Given the description of an element on the screen output the (x, y) to click on. 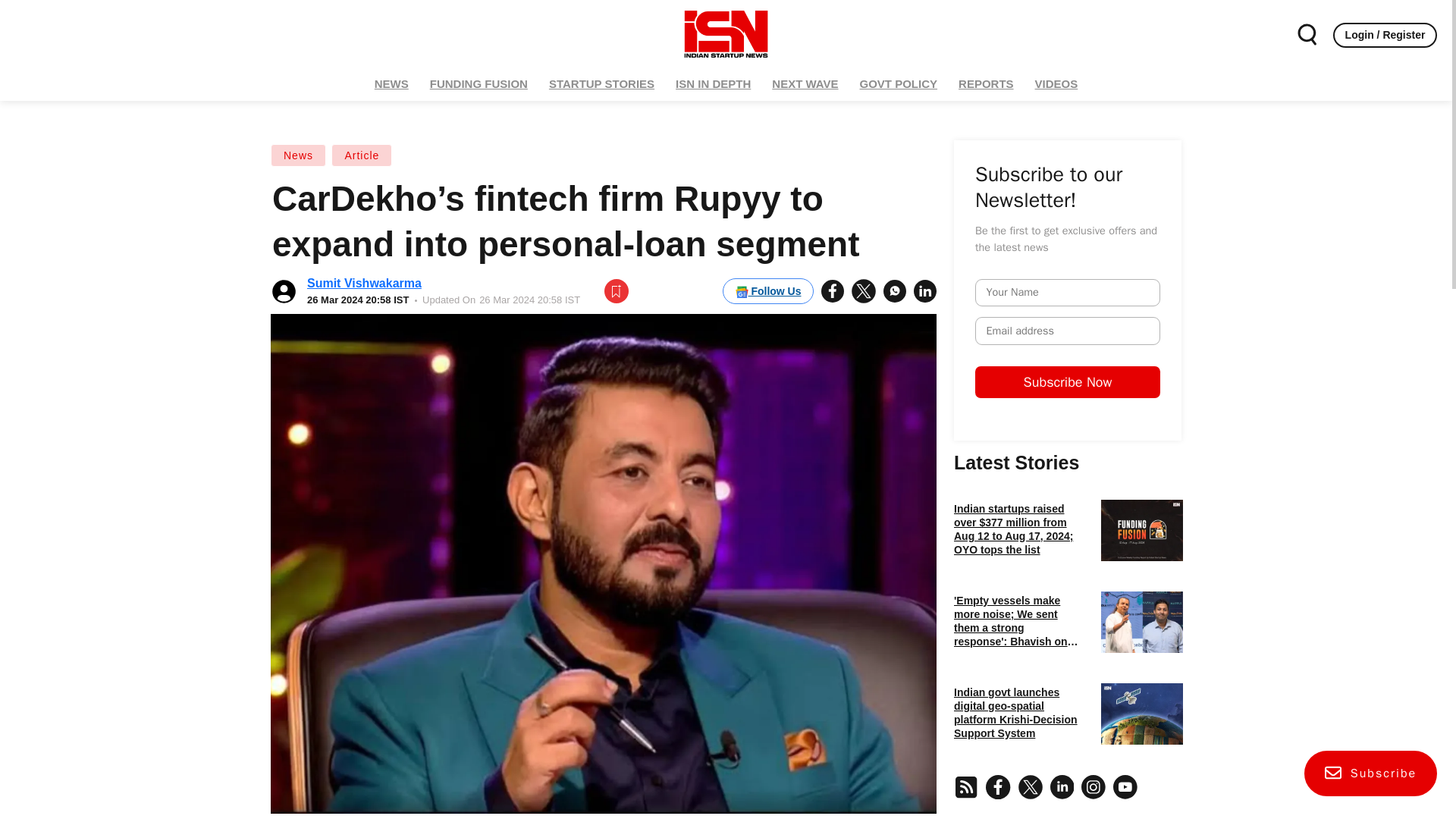
Sumit Vishwakarma (364, 282)
News (298, 155)
GOVT POLICY (898, 83)
Subscribe Now (1185, 424)
REPORTS (986, 83)
ISN IN DEPTH (712, 83)
FUNDING FUSION (478, 83)
Authors (1066, 796)
VIDEOS (1056, 83)
